Given the description of an element on the screen output the (x, y) to click on. 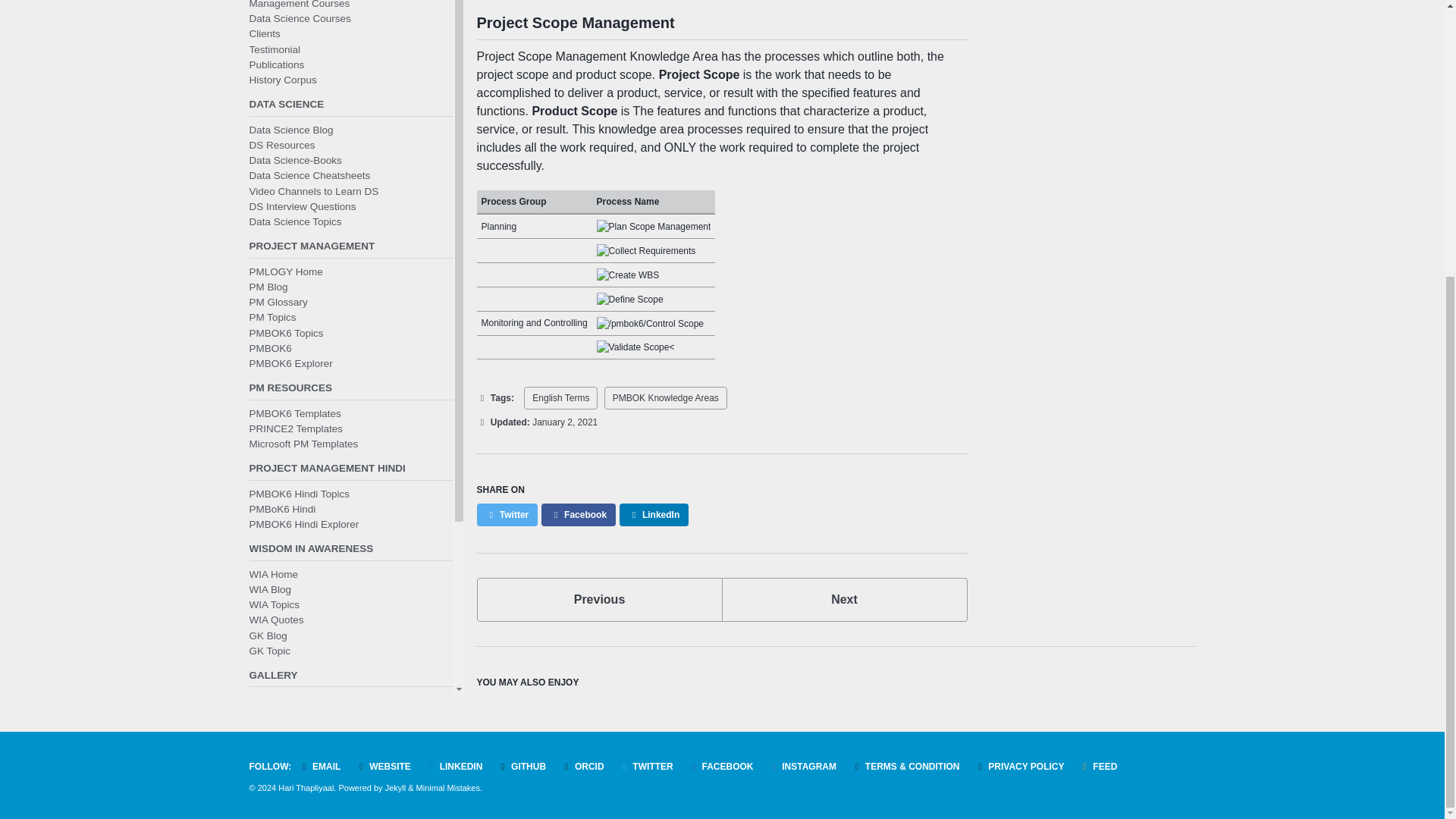
PMBOK6 (269, 68)
Share on LinkedIn (654, 514)
PMBOK6 Topics (845, 599)
PM Topics (285, 52)
Share on Twitter (271, 37)
PM Blog (506, 514)
PM Glossary (599, 599)
Share on Facebook (267, 7)
